Given the description of an element on the screen output the (x, y) to click on. 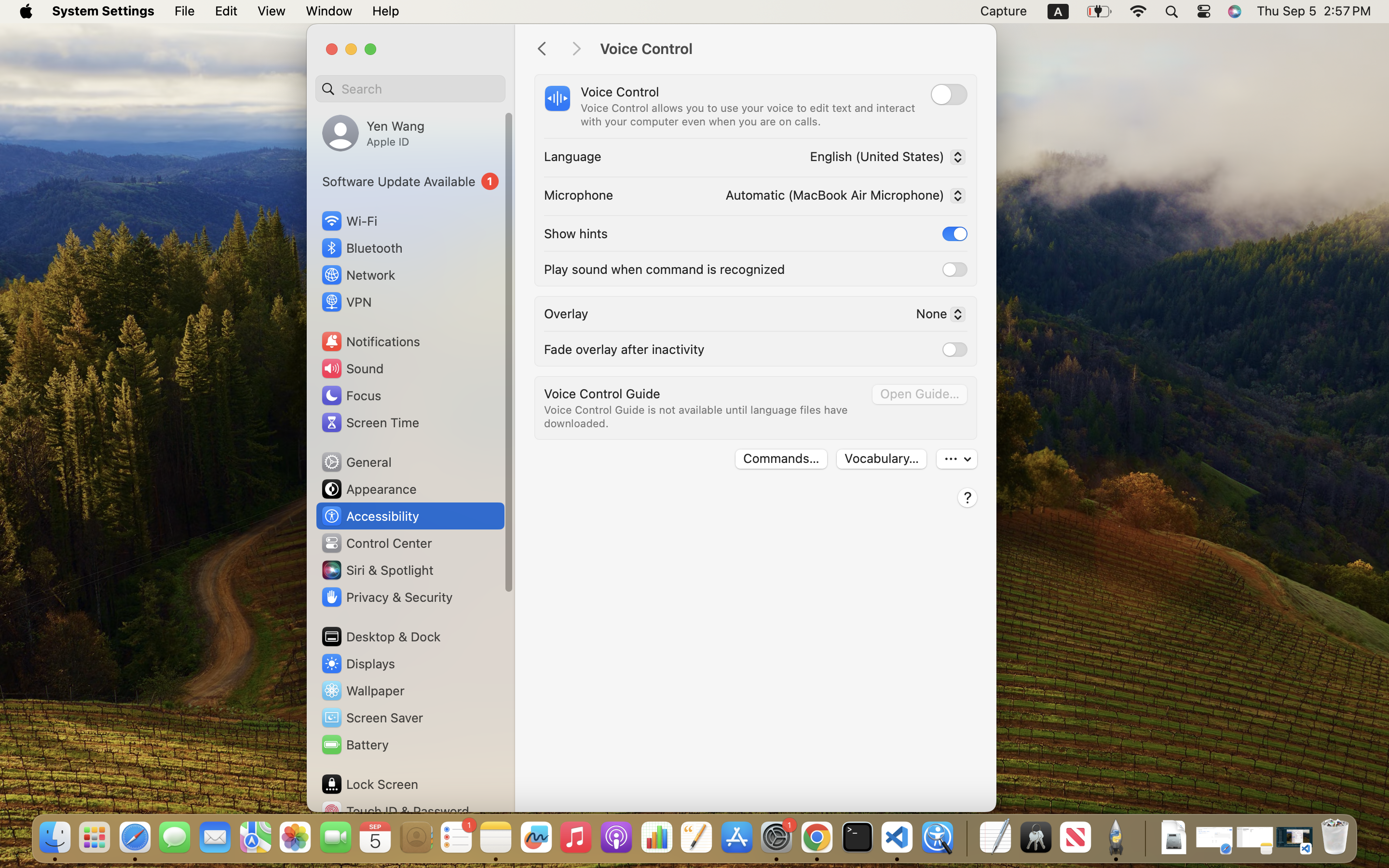
1 Element type: AXCheckBox (954, 233)
Screen Saver Element type: AXStaticText (371, 717)
Screen Time Element type: AXStaticText (369, 422)
English (United States) Element type: AXPopUpButton (884, 158)
Touch ID & Password Element type: AXStaticText (394, 810)
